Given the description of an element on the screen output the (x, y) to click on. 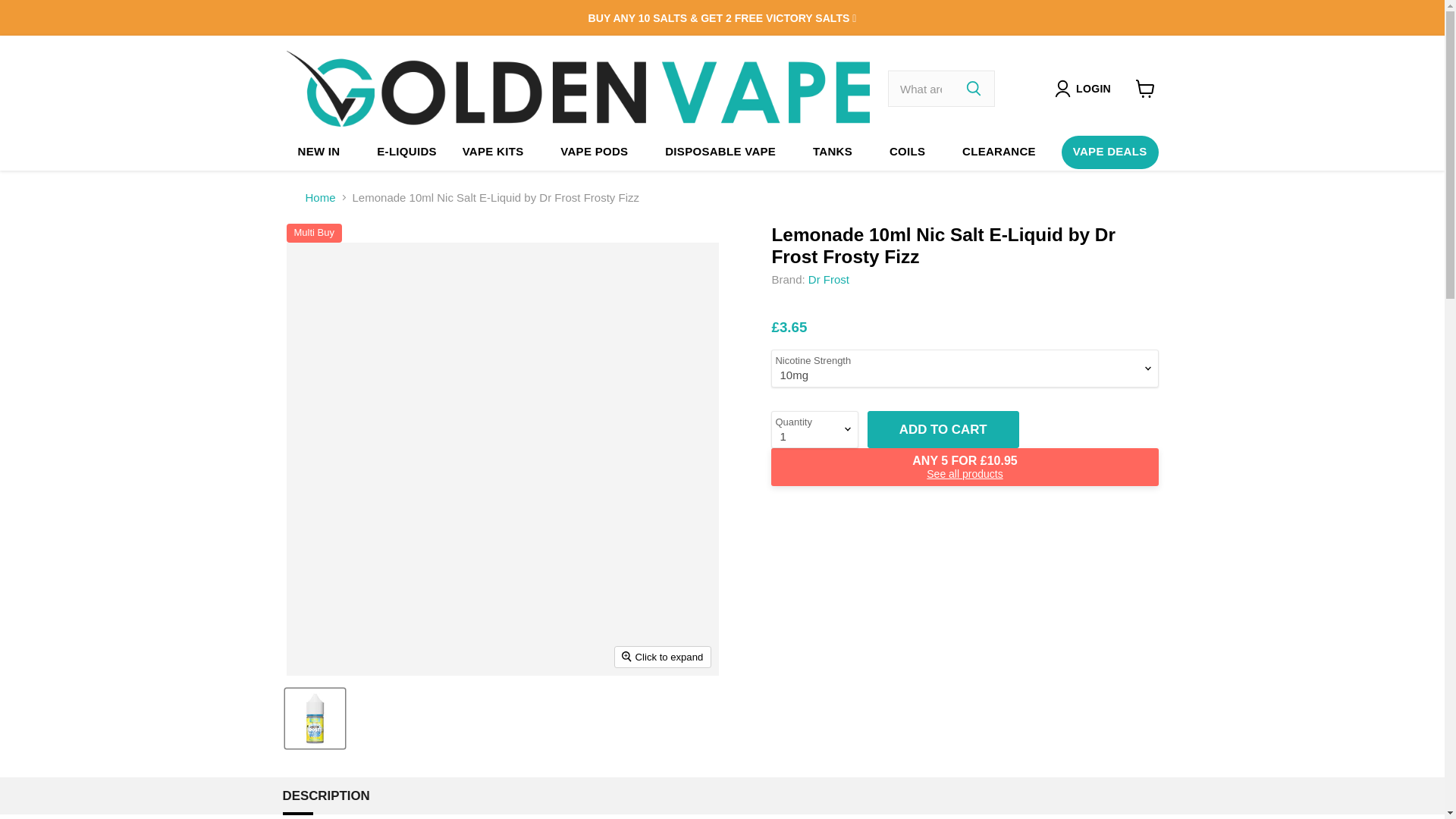
LOGIN (1093, 88)
Dr Frost (828, 278)
View cart (1144, 88)
E-LIQUIDS (406, 151)
NEW IN (319, 151)
